Given the description of an element on the screen output the (x, y) to click on. 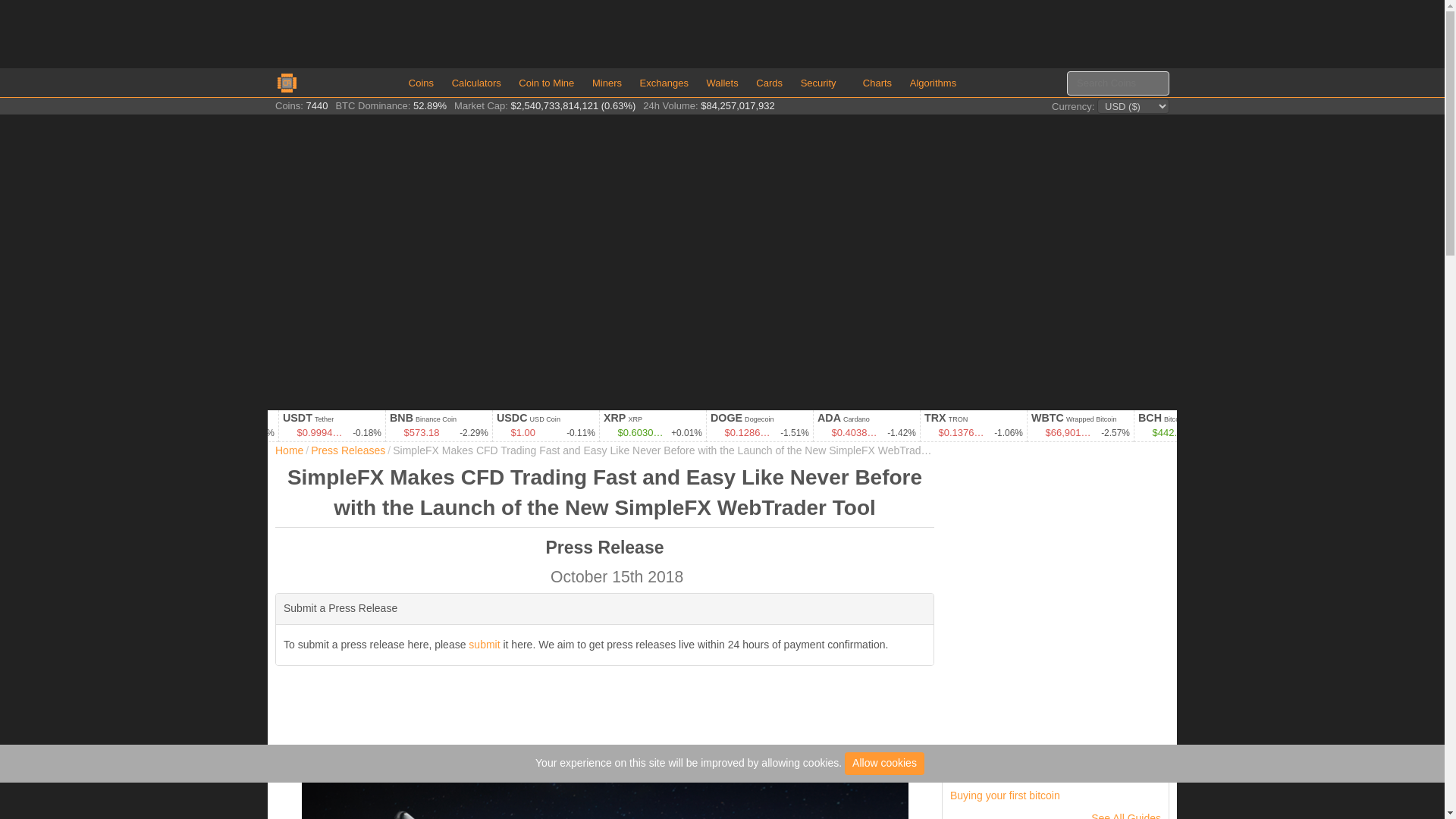
Cryptocurrency Charts (877, 82)
Cryptocurrency Profitability Mining Calculators (476, 82)
Home (288, 450)
Algorithms (932, 82)
Exchanges (663, 82)
Compare Cryptocurrency Exchanges (663, 82)
Which Coin To Mine Calculator (545, 82)
Coins (421, 82)
Coin to Mine (545, 82)
Charts (877, 82)
Security (823, 82)
Cards (769, 82)
Miners (606, 82)
Cryptocurrency Wallets (721, 82)
Cryptocurrency Coin Index (421, 82)
